Given the description of an element on the screen output the (x, y) to click on. 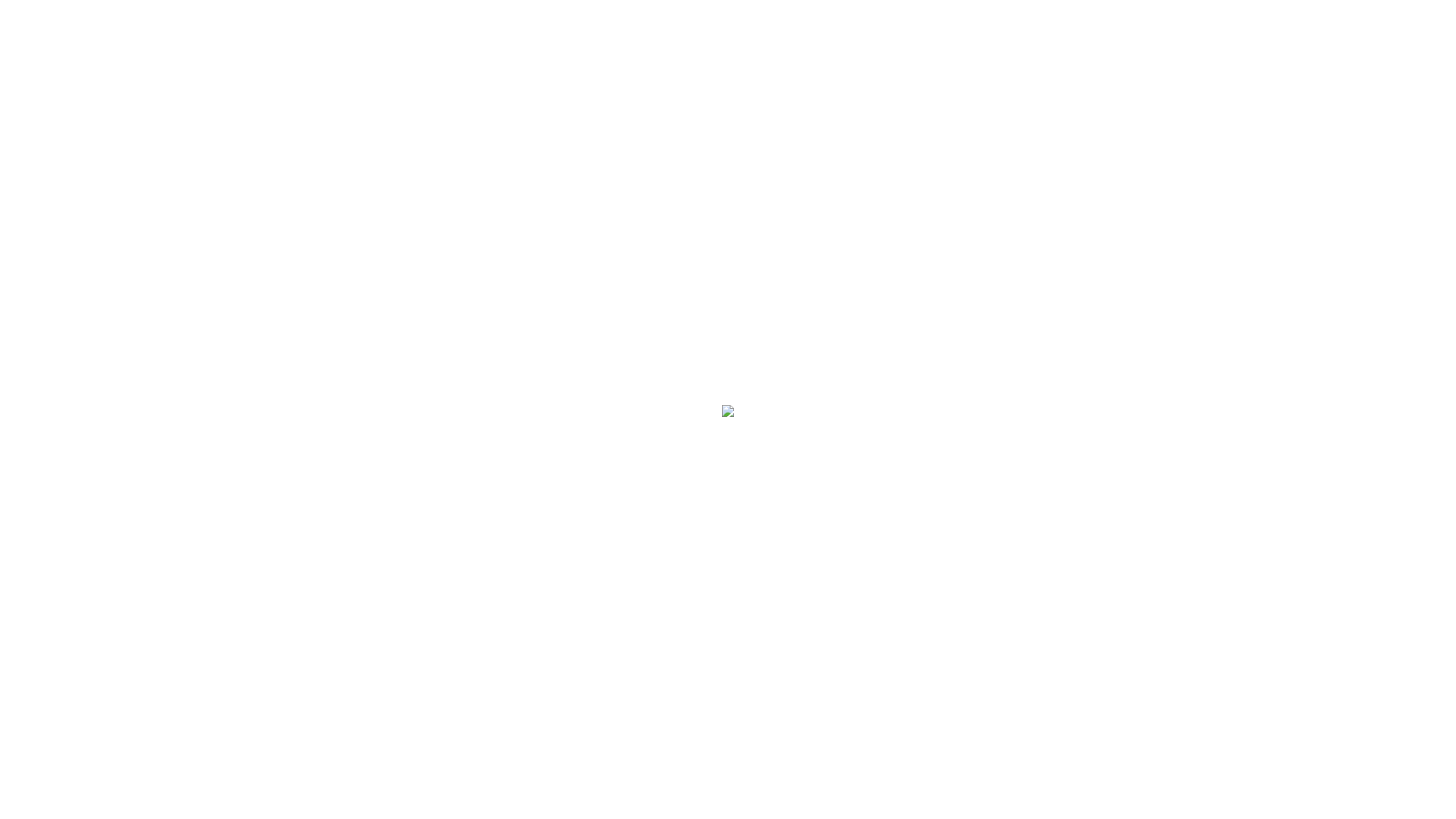
CREATED BY REDRO Element type: text (802, 797)
FAQ Element type: text (991, 365)
NEWS & EVENTS Element type: text (842, 365)
PROGRAMS Element type: text (933, 365)
JUNIOR AND YOUTH GIRLS Element type: text (567, 365)
Marayong FC Element type: hover (242, 336)
WOMENS PL Element type: text (689, 365)
PARTNERS Element type: text (451, 365)
MENS PL Element type: text (761, 365)
CONTACT Element type: text (1042, 365)
REGISTER Element type: text (383, 365)
